Given the description of an element on the screen output the (x, y) to click on. 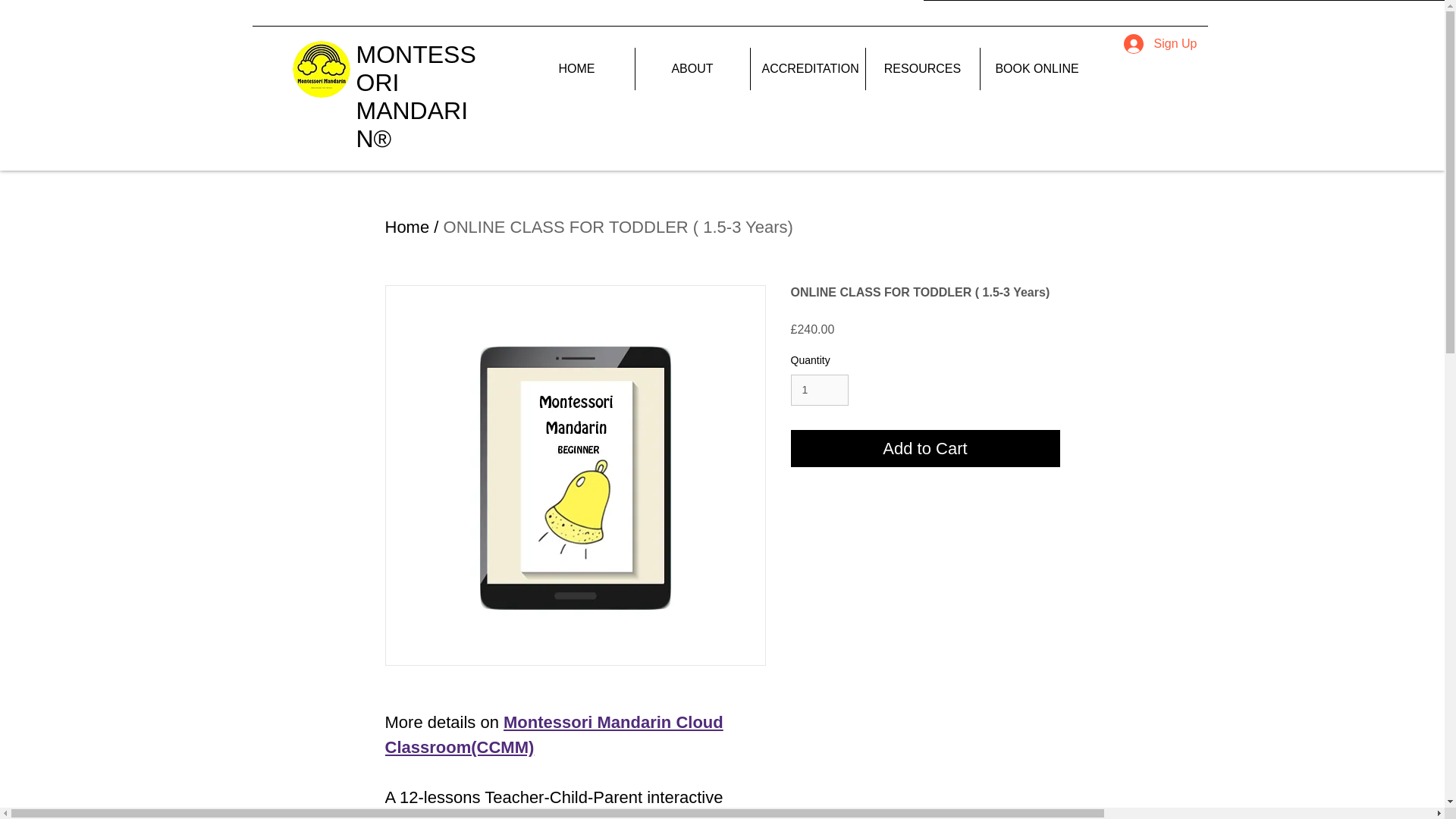
BOOK ONLINE (1036, 68)
ACCREDITATION (807, 68)
Add to Cart (924, 447)
HOME (575, 68)
ABOUT (691, 68)
Home (407, 226)
RESOURCES (922, 68)
Sign Up (1160, 43)
1 (818, 389)
